Given the description of an element on the screen output the (x, y) to click on. 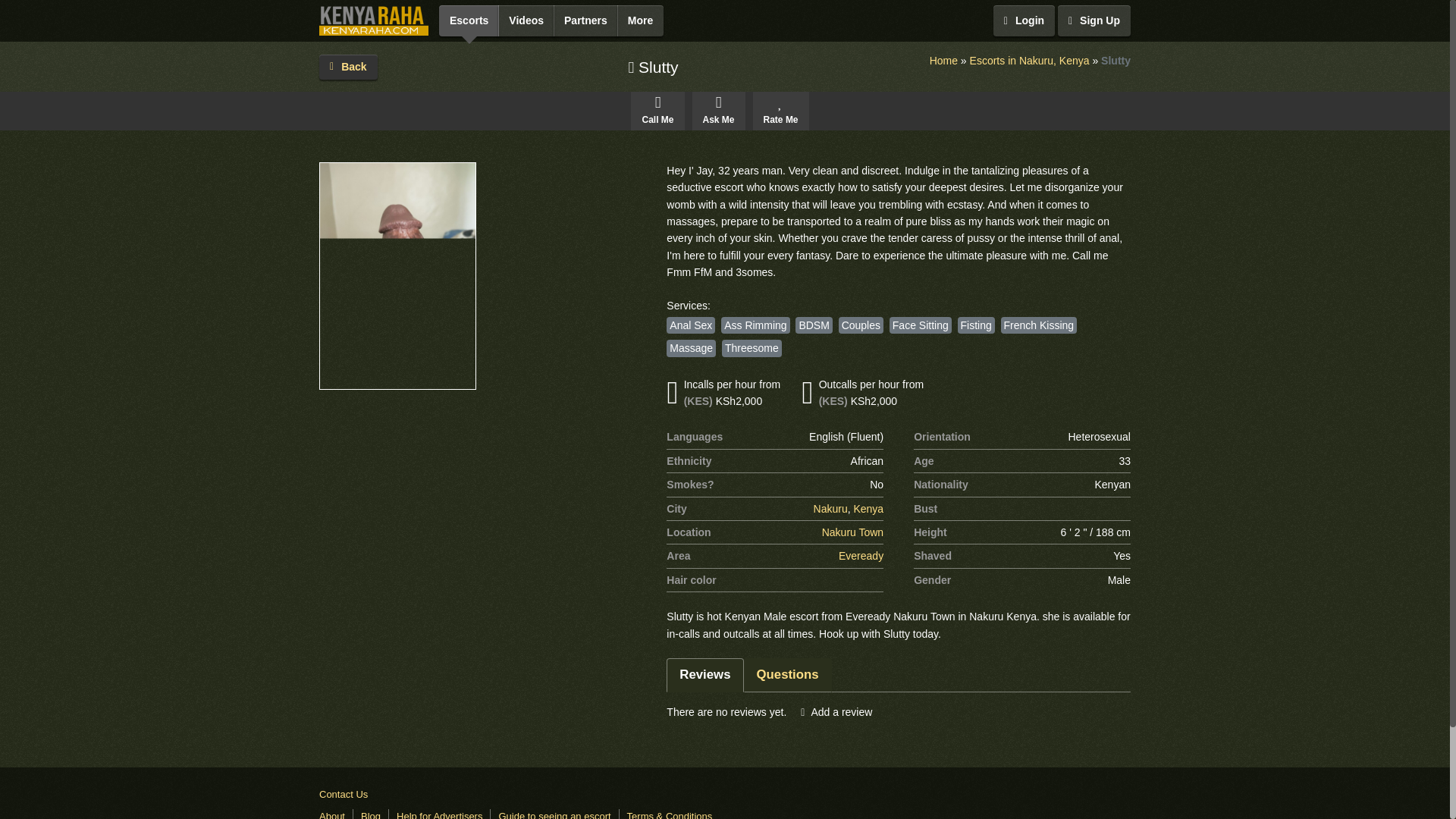
More (640, 20)
Eveready (860, 555)
Partners (585, 20)
Couples (860, 324)
Rate Me (780, 110)
Face Sitting (920, 324)
Anal Sex (690, 324)
Home (944, 60)
Sign Up (1094, 20)
Escorts (469, 20)
French Kissing (1039, 324)
BDSM (812, 324)
Back (347, 66)
About (331, 814)
Kenya (868, 508)
